Given the description of an element on the screen output the (x, y) to click on. 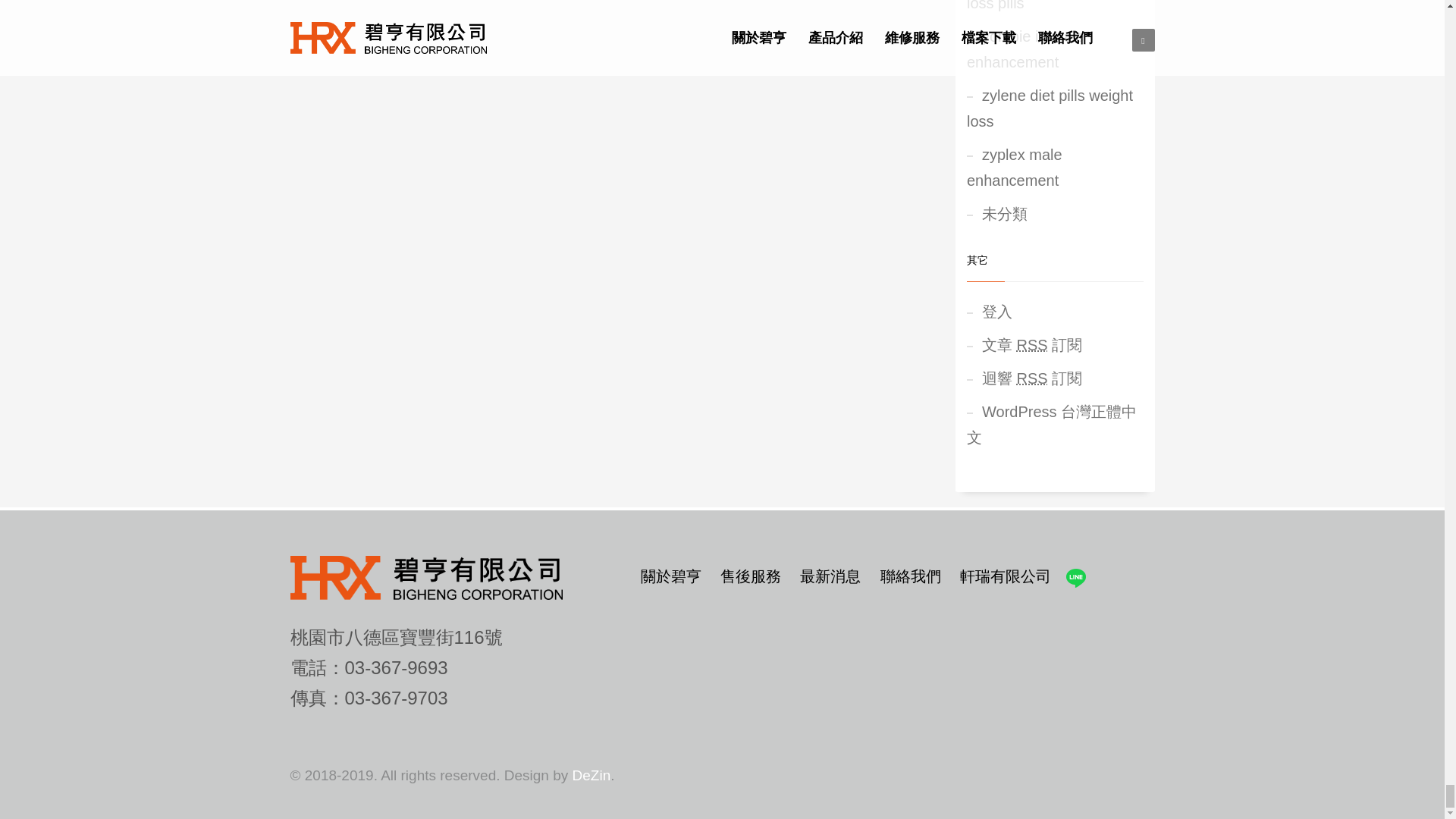
line (1075, 578)
Really Simple Syndication (1032, 344)
Really Simple Syndication (1032, 378)
